Given the description of an element on the screen output the (x, y) to click on. 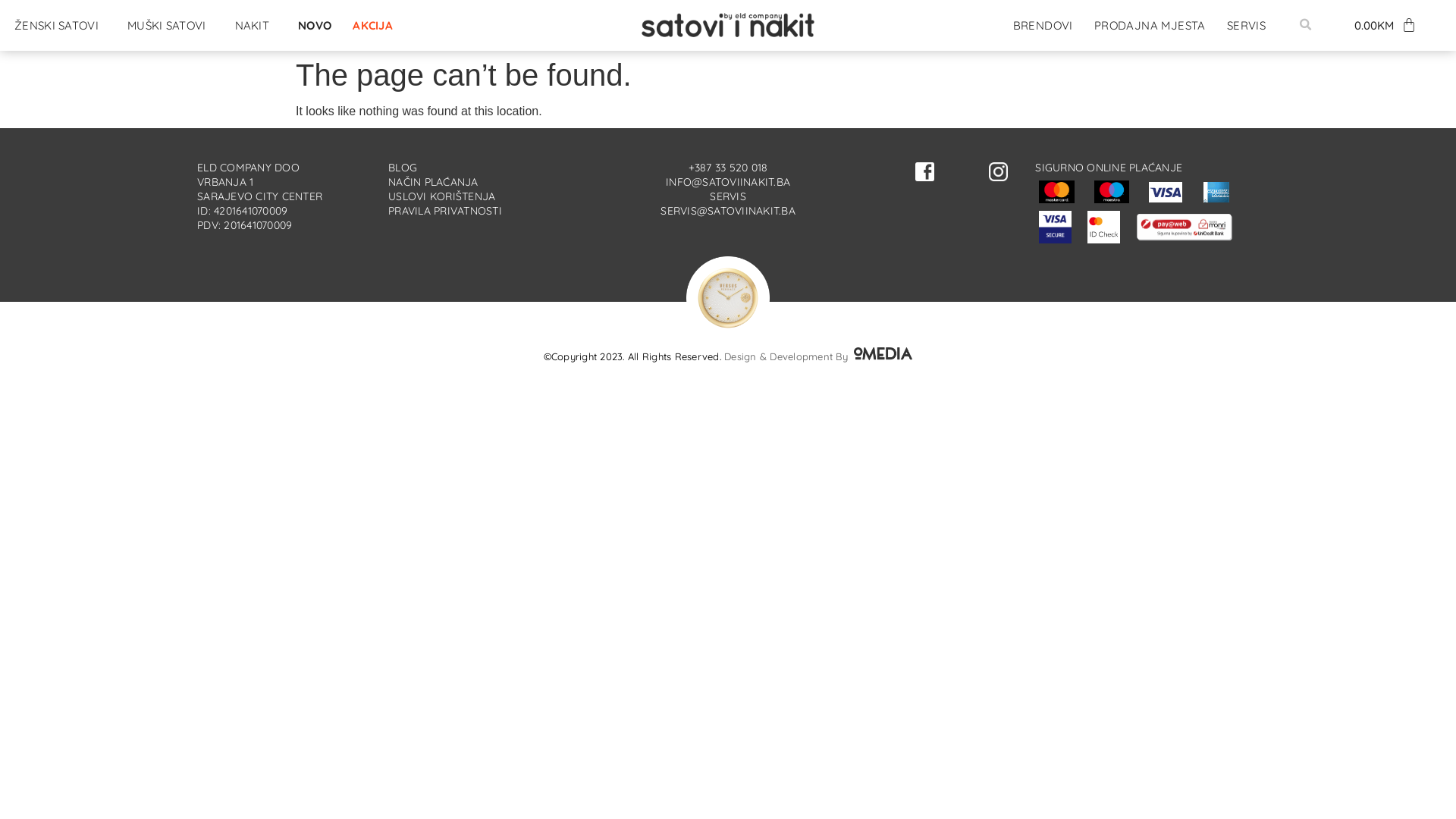
SERVIS Element type: text (1246, 24)
PRAVILA PRIVATNOSTI Element type: text (445, 210)
AKCIJA Element type: text (372, 24)
NAKIT Element type: text (256, 24)
0.00KM Element type: text (1385, 24)
NOVO Element type: text (314, 24)
Design & Development By  Element type: text (818, 356)
PRODAJNA MJESTA Element type: text (1149, 24)
BLOG Element type: text (402, 167)
BRENDOVI Element type: text (1042, 24)
